Given the description of an element on the screen output the (x, y) to click on. 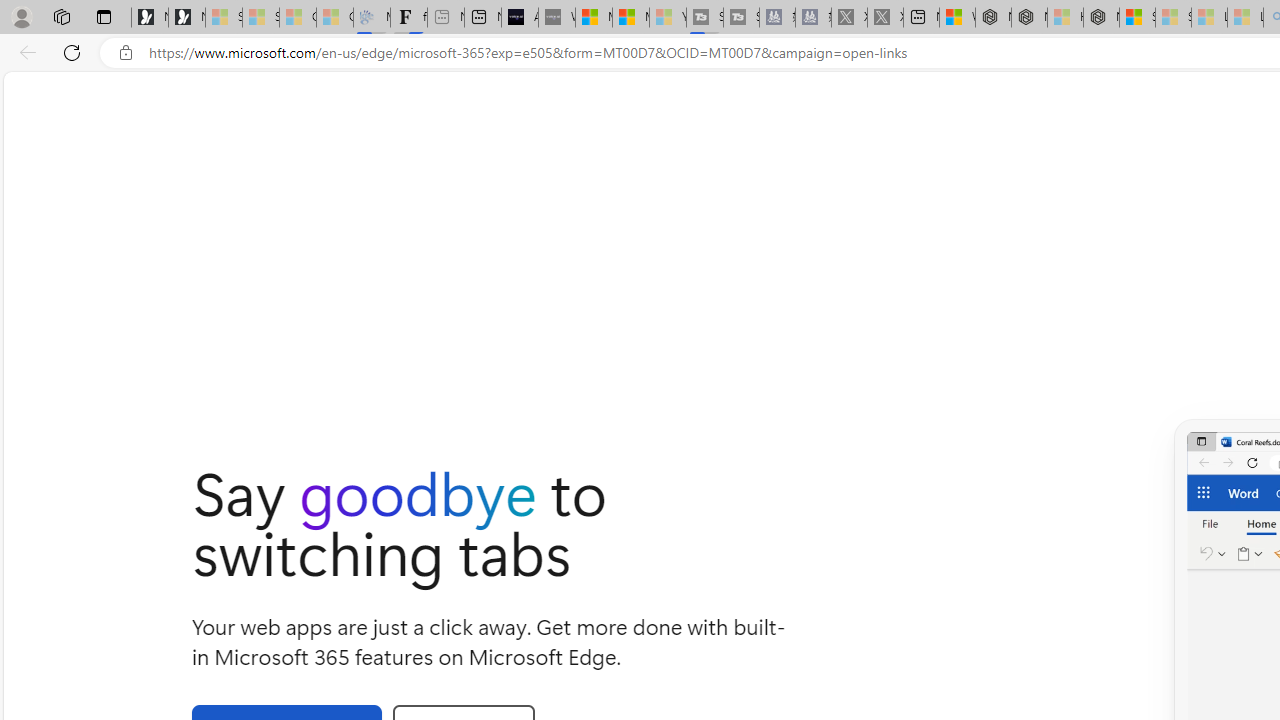
Personal Profile (21, 16)
Streaming Coverage | T3 - Sleeping (705, 17)
Microsoft Start Sports (593, 17)
Nordace - Summer Adventures 2024 (1029, 17)
Back (24, 52)
What's the best AI voice generator? - voice.ai - Sleeping (556, 17)
New tab - Sleeping (445, 17)
X - Sleeping (884, 17)
